Given the description of an element on the screen output the (x, y) to click on. 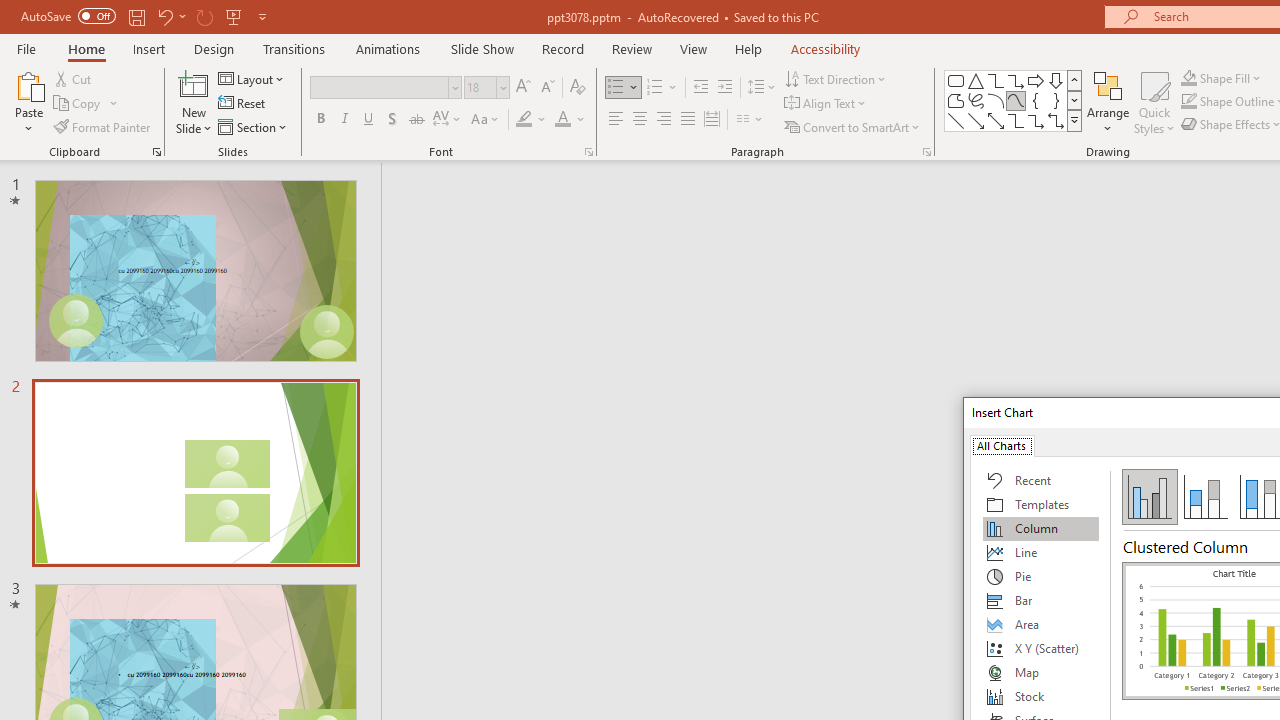
Shape Outline Green, Accent 1 (1188, 101)
Connector: Elbow Double-Arrow (1055, 120)
Recent (1041, 480)
Templates (1041, 504)
